Given the description of an element on the screen output the (x, y) to click on. 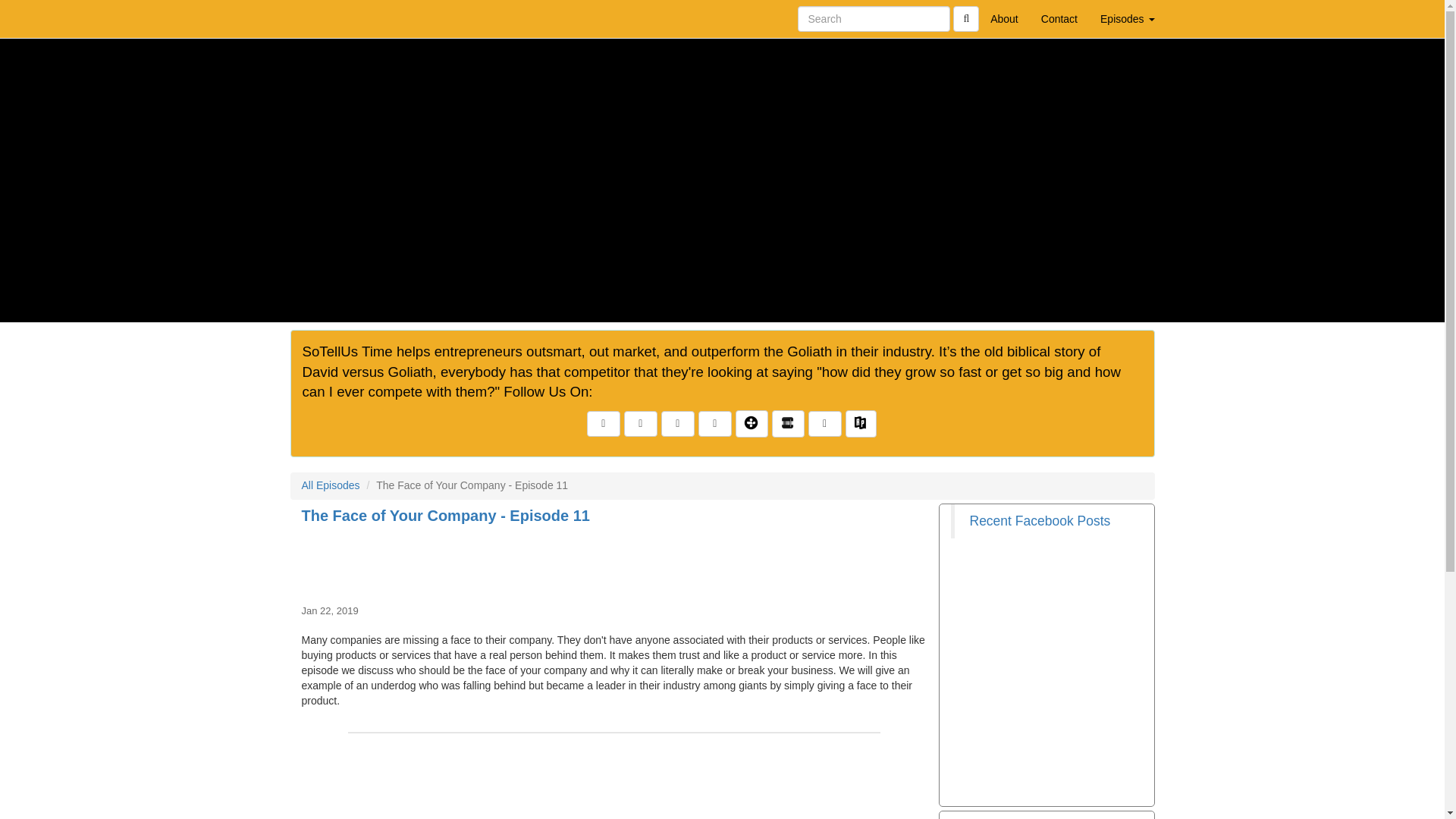
Home Page (320, 18)
Listen on TuneIn (751, 423)
Email This Podcast (641, 423)
Subscribe to RSS Feed (677, 423)
Listen on Spotify (824, 423)
Listen on Apple Podcasts (715, 423)
About (1003, 18)
Listen on Stitcher (788, 423)
The Face of Your Company - Episode 11 (614, 561)
Episodes (1127, 18)
